Given the description of an element on the screen output the (x, y) to click on. 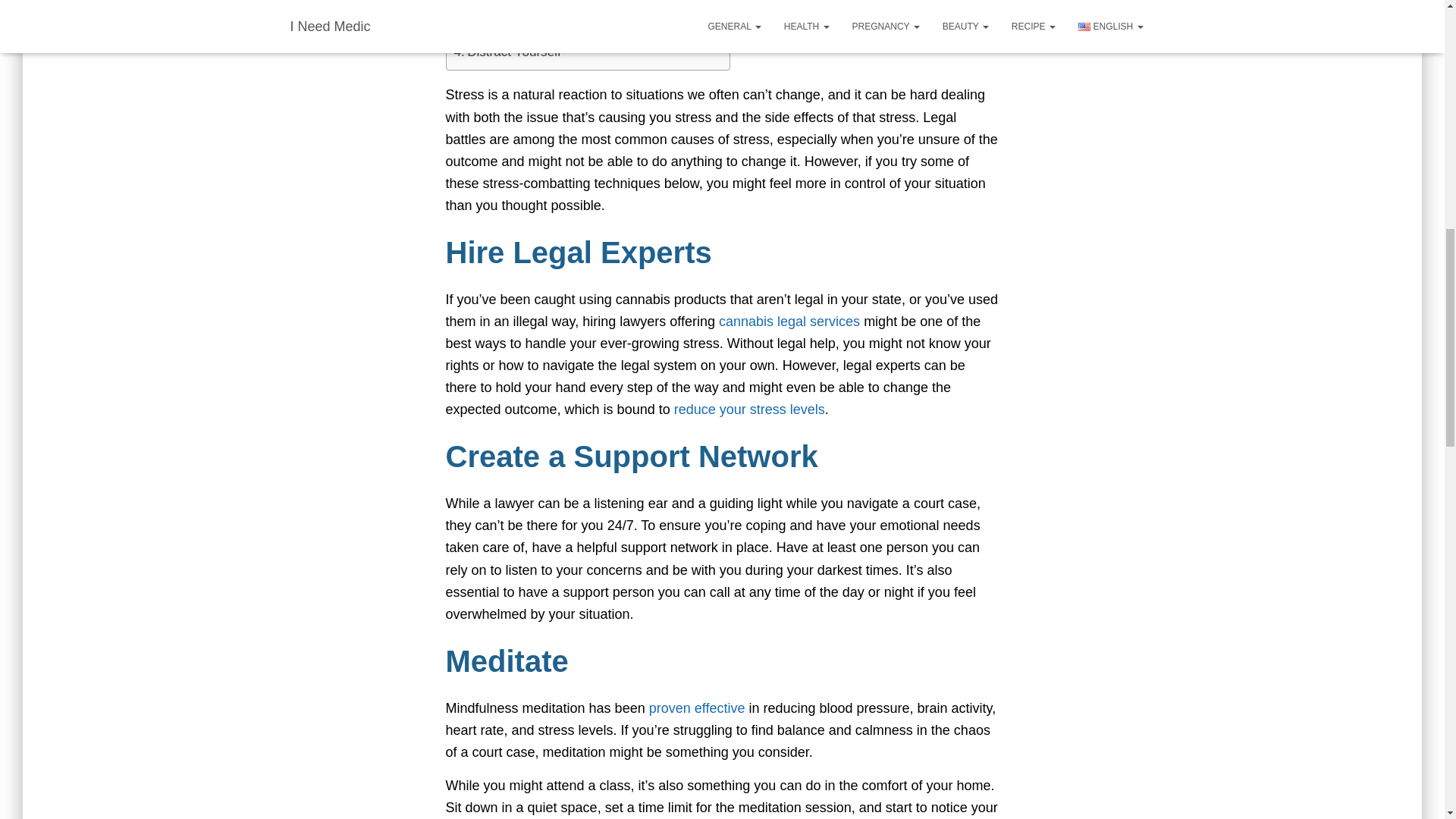
Distract Yourself (506, 51)
reduce your stress levels (749, 409)
cannabis legal services (789, 321)
proven effective (697, 708)
Meditate (484, 31)
Create a Support Network (533, 10)
